Given the description of an element on the screen output the (x, y) to click on. 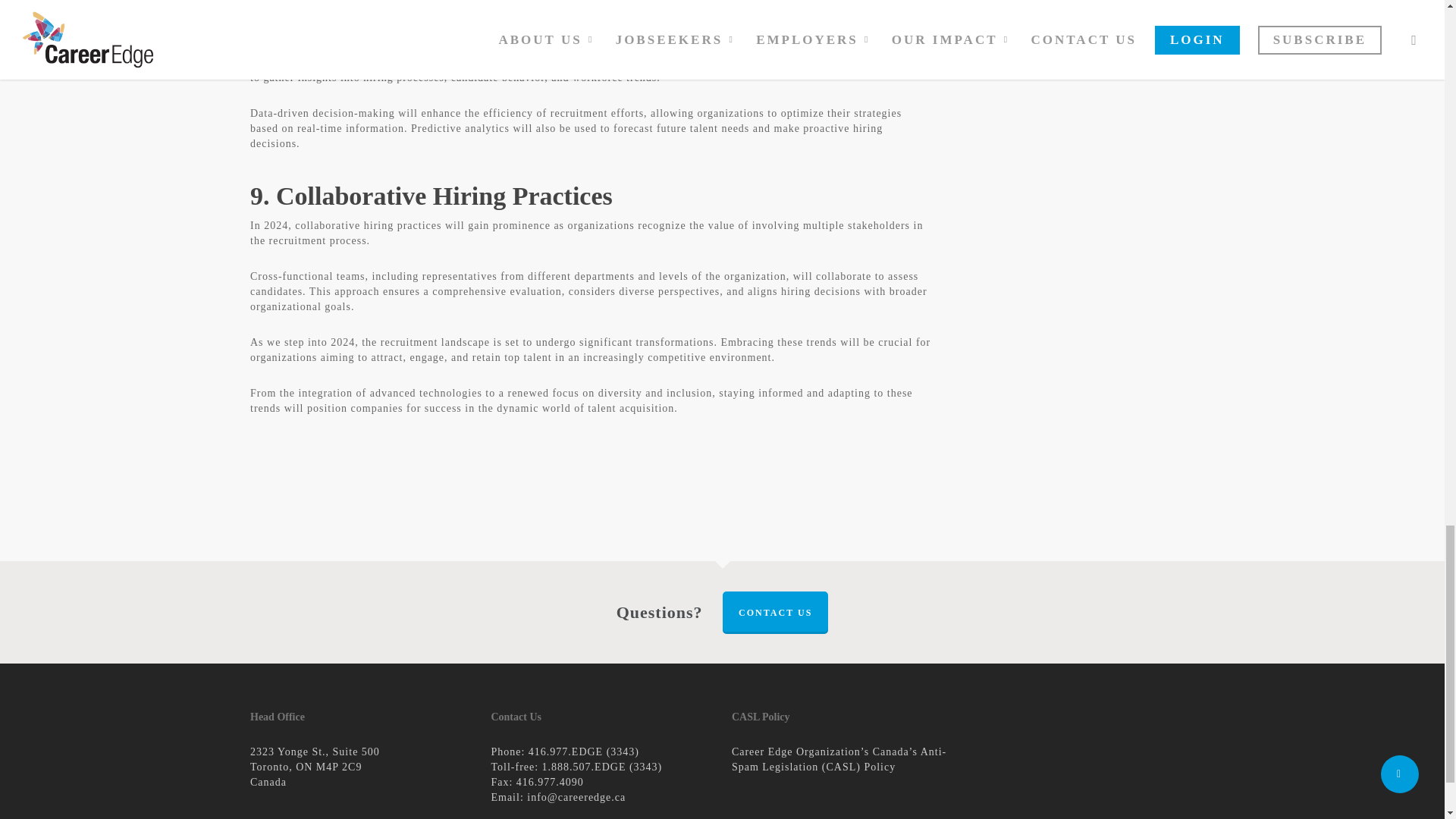
CONTACT US (775, 612)
